Given the description of an element on the screen output the (x, y) to click on. 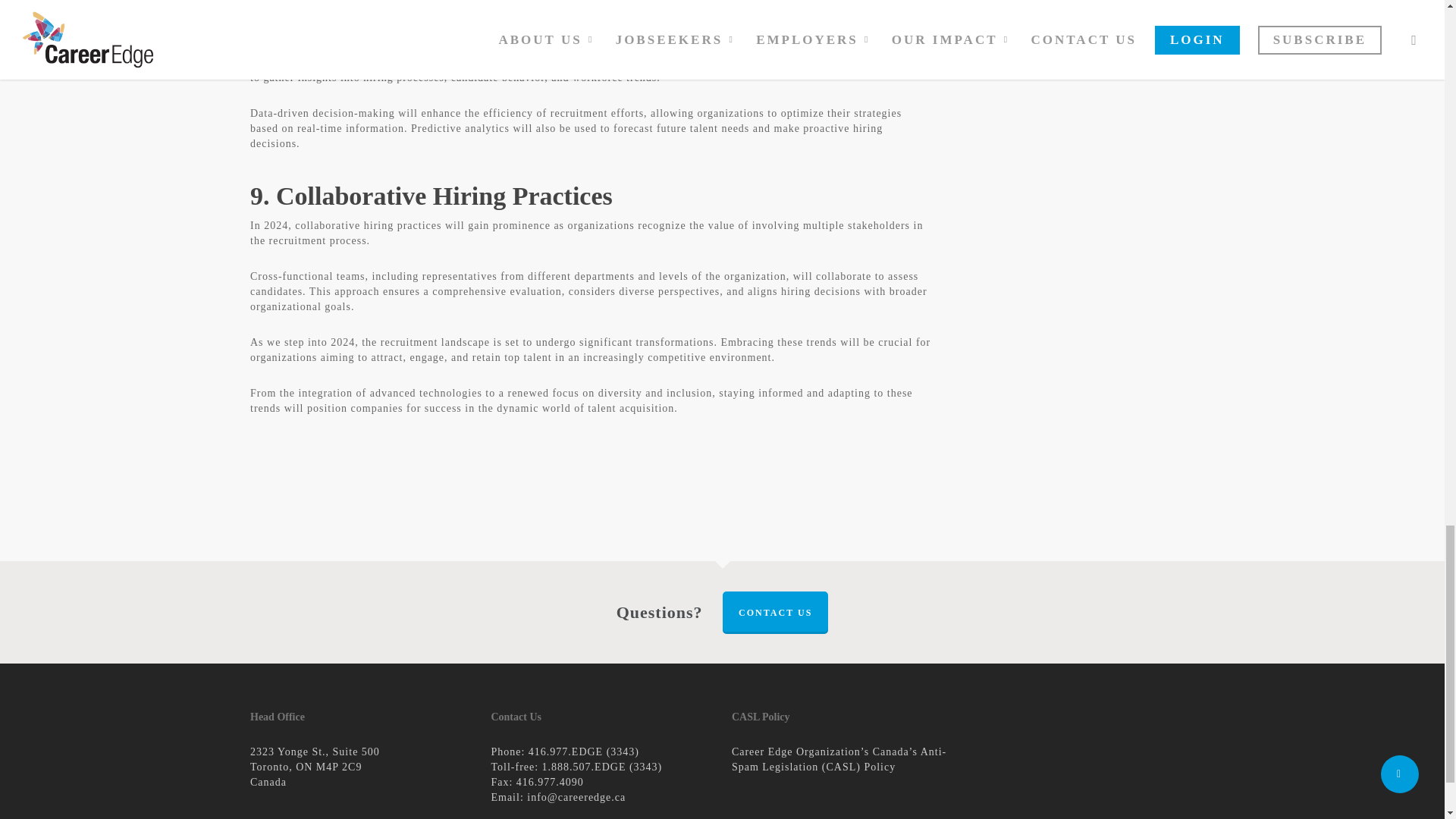
CONTACT US (775, 612)
